Given the description of an element on the screen output the (x, y) to click on. 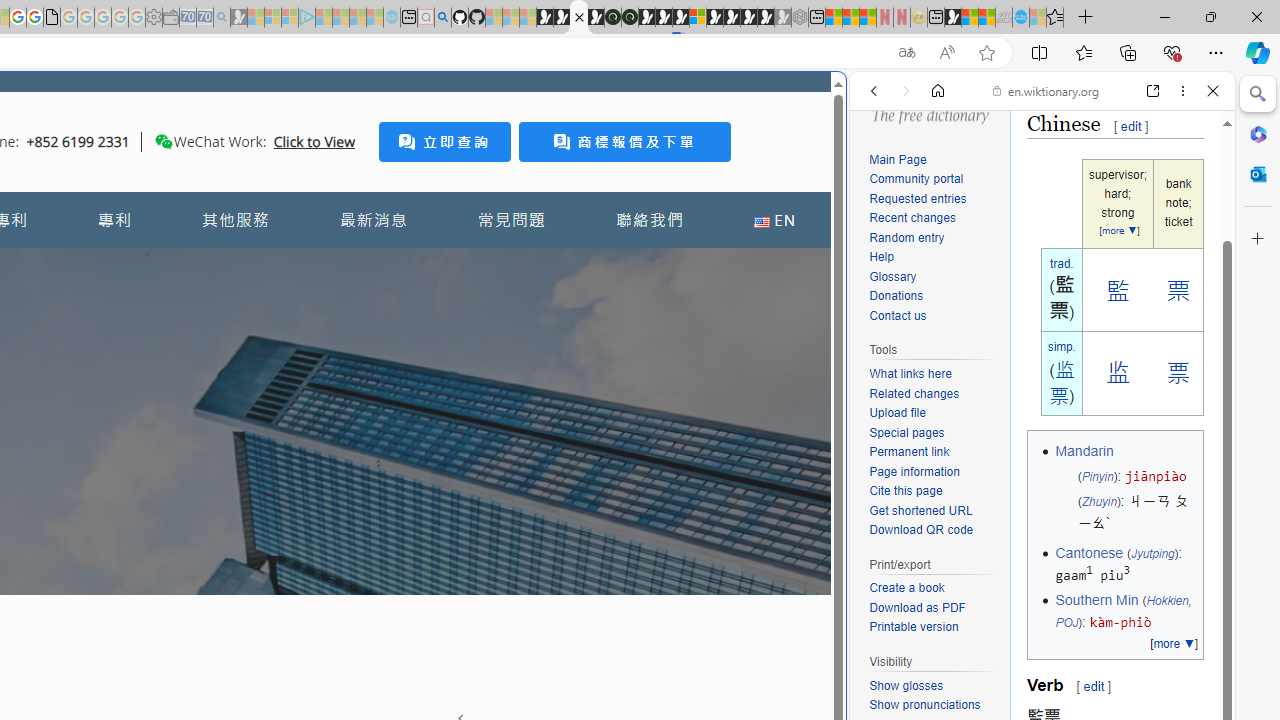
Cantonese (1088, 552)
Upload file (897, 413)
Main Page (934, 160)
